Given the description of an element on the screen output the (x, y) to click on. 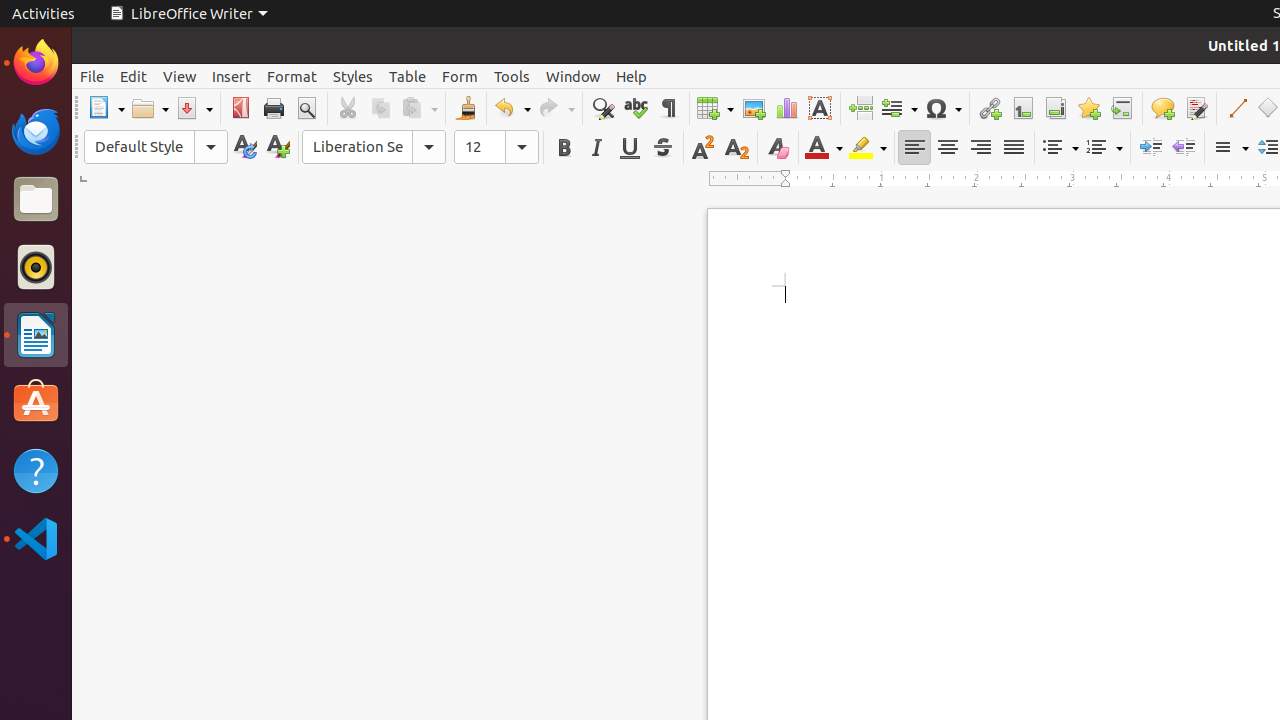
Field Element type: push-button (899, 108)
Subscript Element type: toggle-button (736, 147)
Files Element type: push-button (36, 199)
Justified Element type: toggle-button (1013, 147)
Font Size Element type: panel (496, 147)
